Given the description of an element on the screen output the (x, y) to click on. 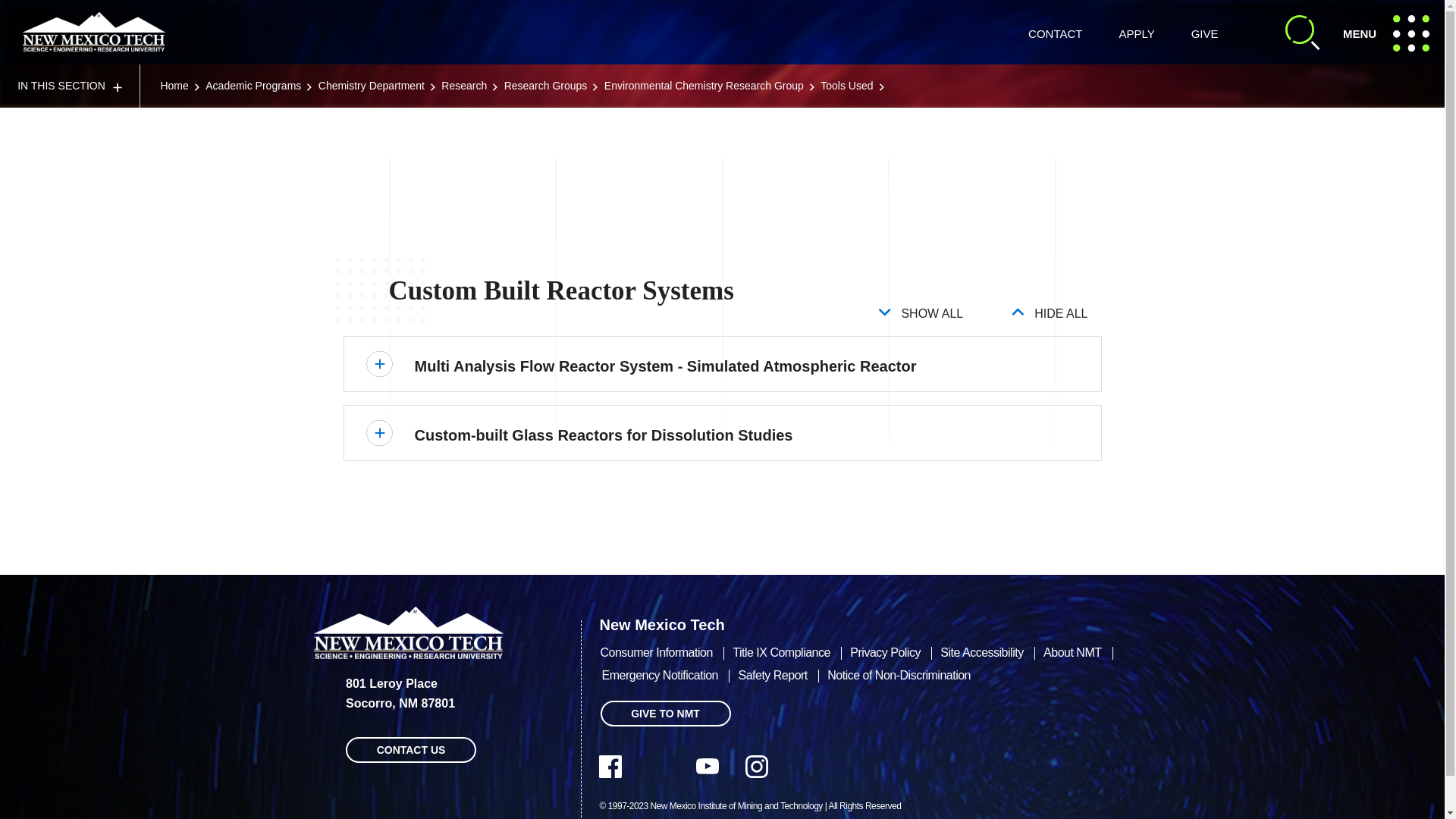
Research Groups (545, 85)
Chemistry Department (371, 85)
Research (463, 85)
CONTACT (1054, 33)
Home (173, 85)
GIVE (1204, 33)
expand search (1391, 32)
IN THIS SECTION (1303, 32)
Academic Programs (69, 85)
New Mexico Tech - Home (253, 85)
APPLY (94, 32)
Environmental Chemistry Research Group (1135, 33)
